Given the description of an element on the screen output the (x, y) to click on. 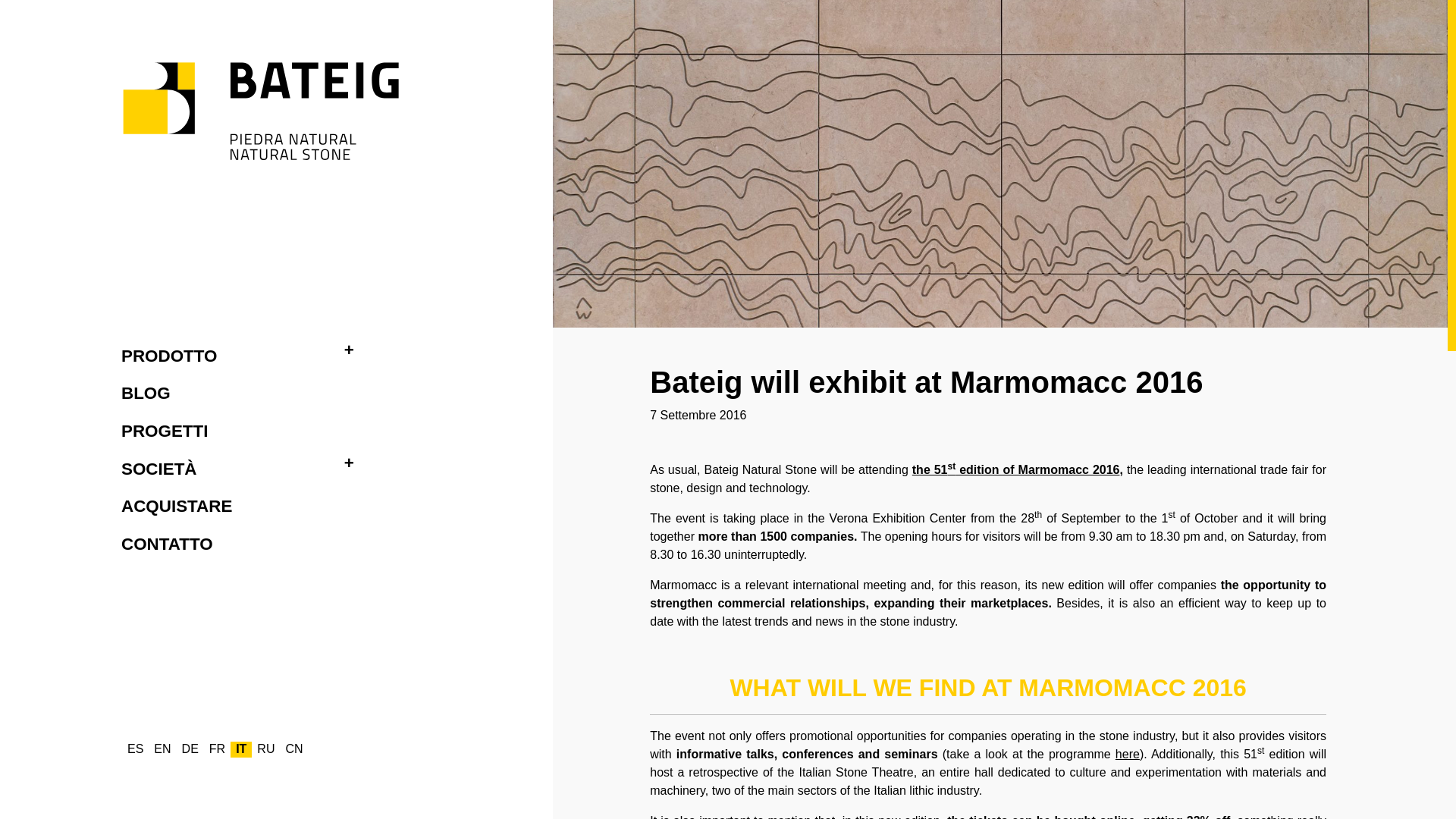
Blog (148, 393)
ES (135, 749)
EN (162, 749)
Prodotto (171, 356)
RU (265, 749)
BLOG (148, 393)
CN (293, 749)
PROGETTI (167, 431)
DE (189, 749)
PRODOTTO (171, 356)
